Given the description of an element on the screen output the (x, y) to click on. 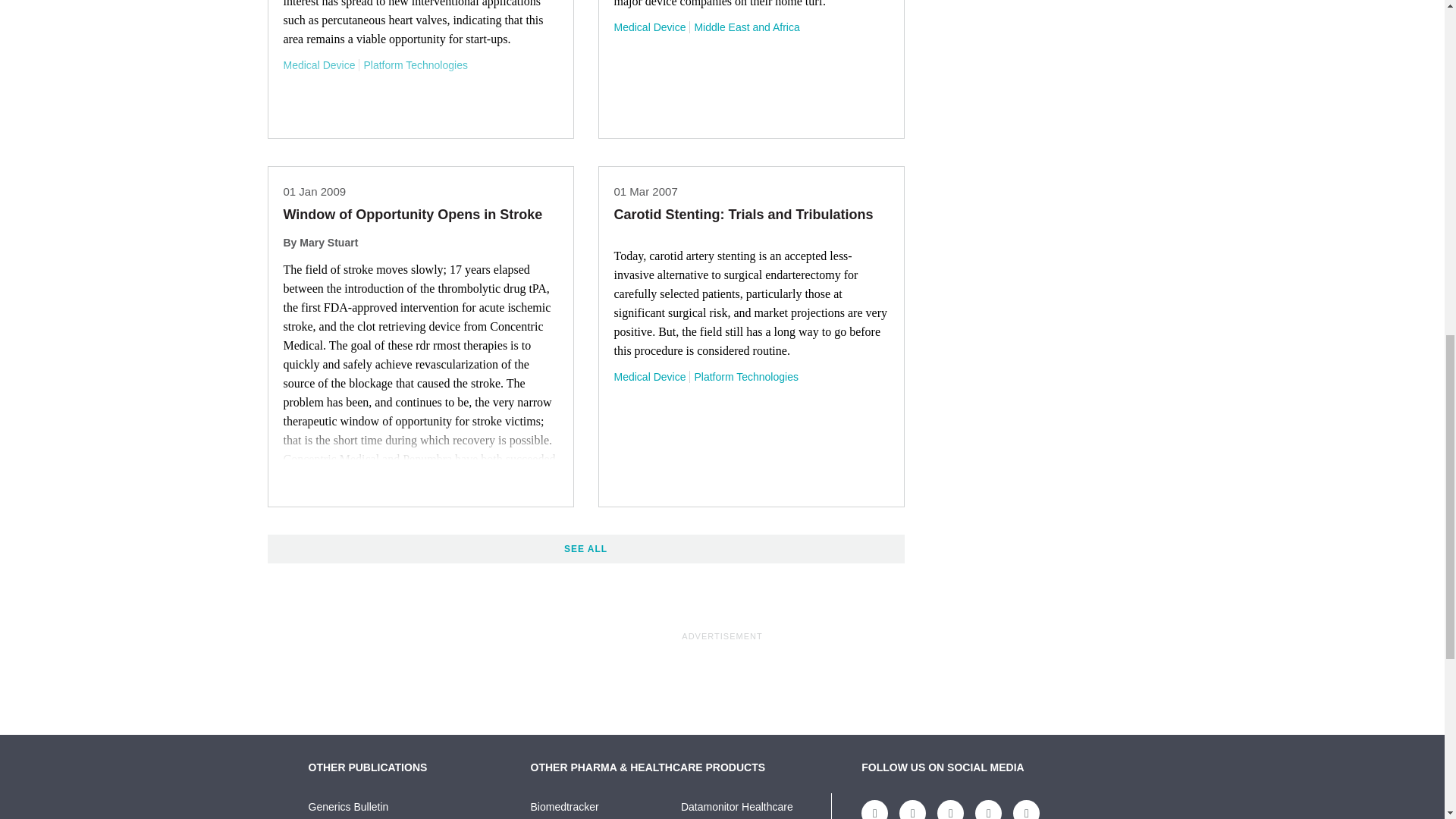
3rd party ad content (721, 677)
